Given the description of an element on the screen output the (x, y) to click on. 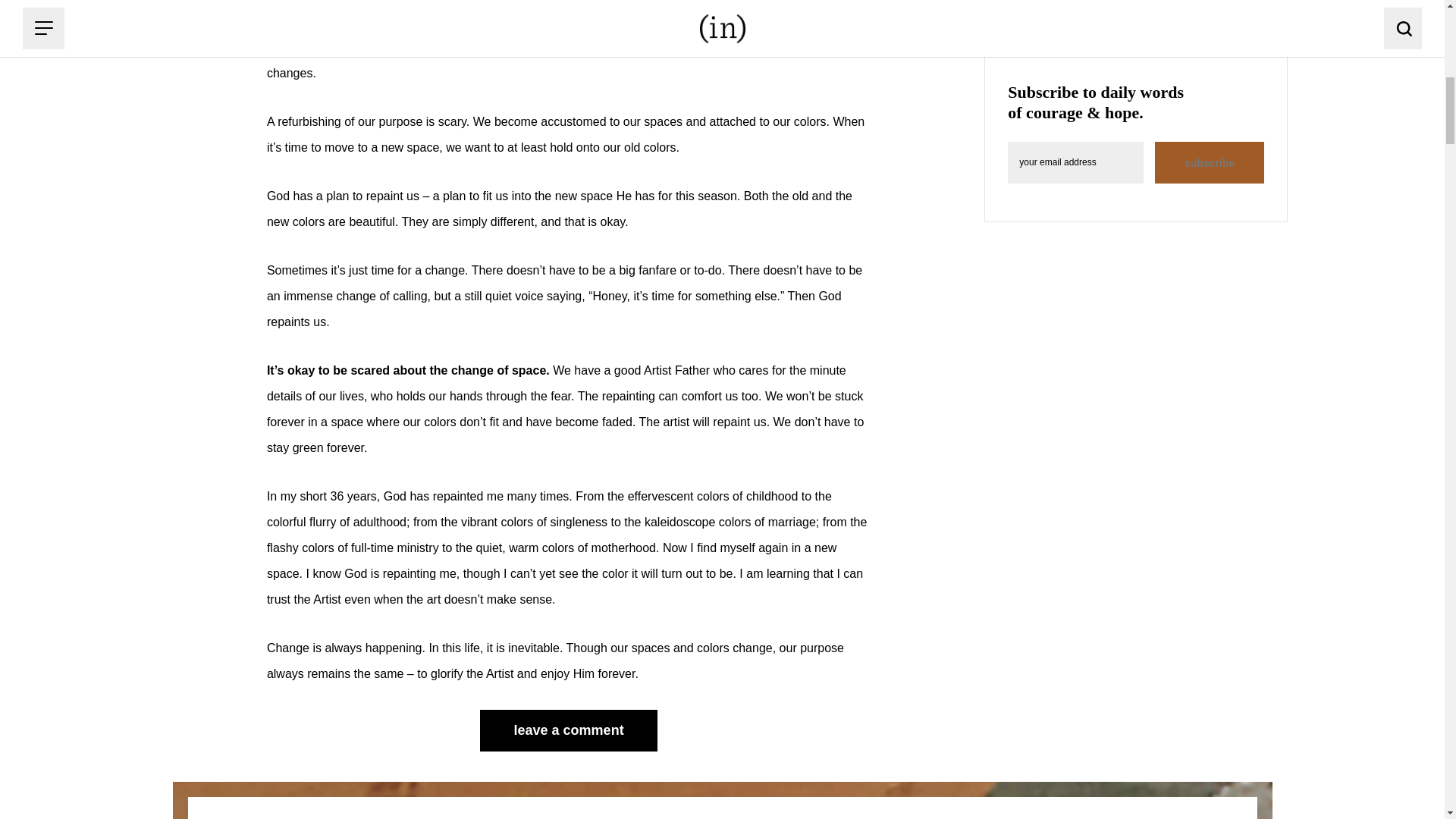
Subscribe (1208, 162)
